Given the description of an element on the screen output the (x, y) to click on. 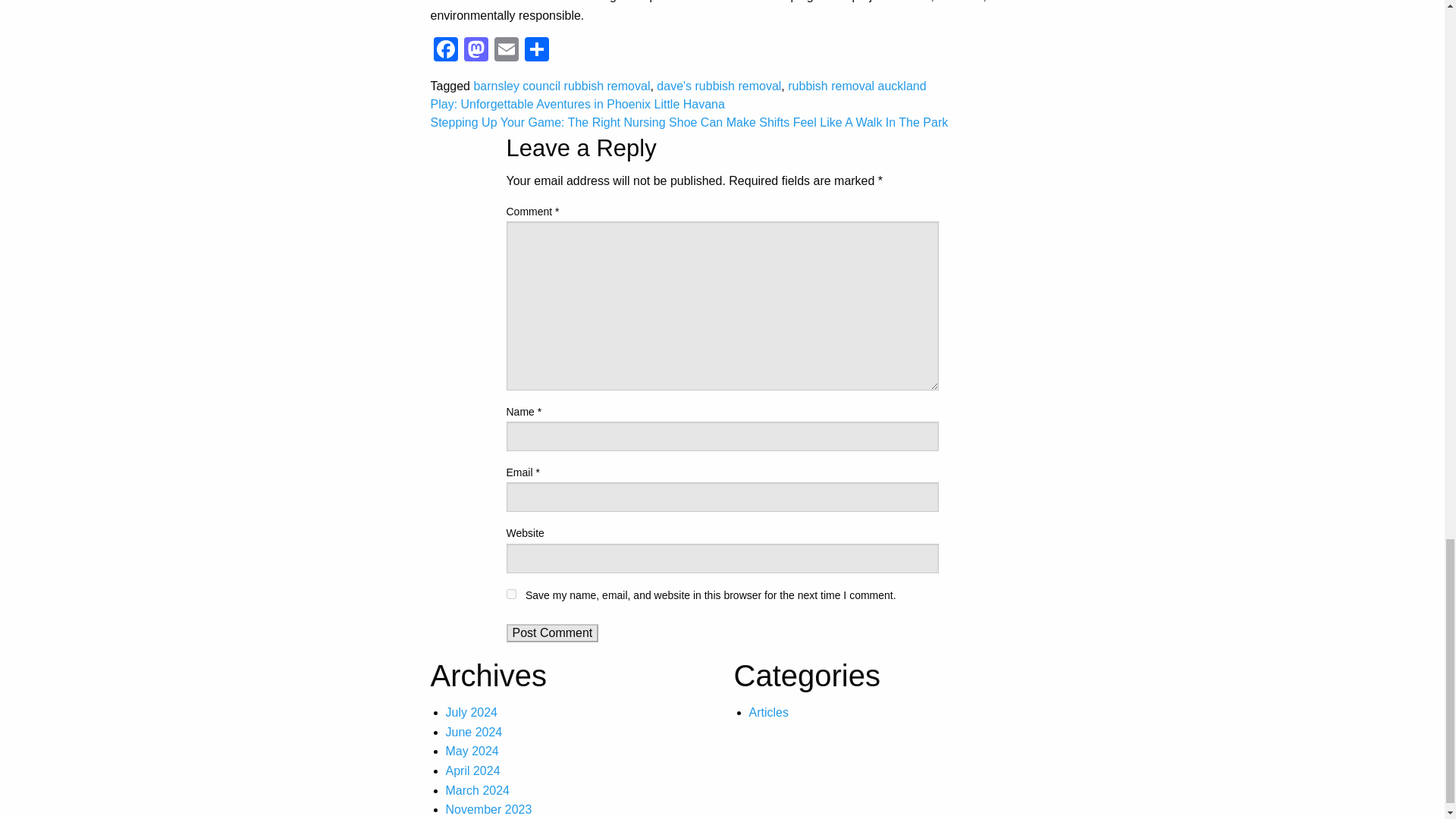
April 2024 (472, 770)
May 2024 (472, 750)
barnsley council rubbish removal (561, 85)
June 2024 (473, 731)
July 2024 (471, 712)
Play: Unforgettable Aventures in Phoenix Little Havana (577, 103)
Email (506, 50)
Articles (769, 712)
March 2024 (478, 789)
